Given the description of an element on the screen output the (x, y) to click on. 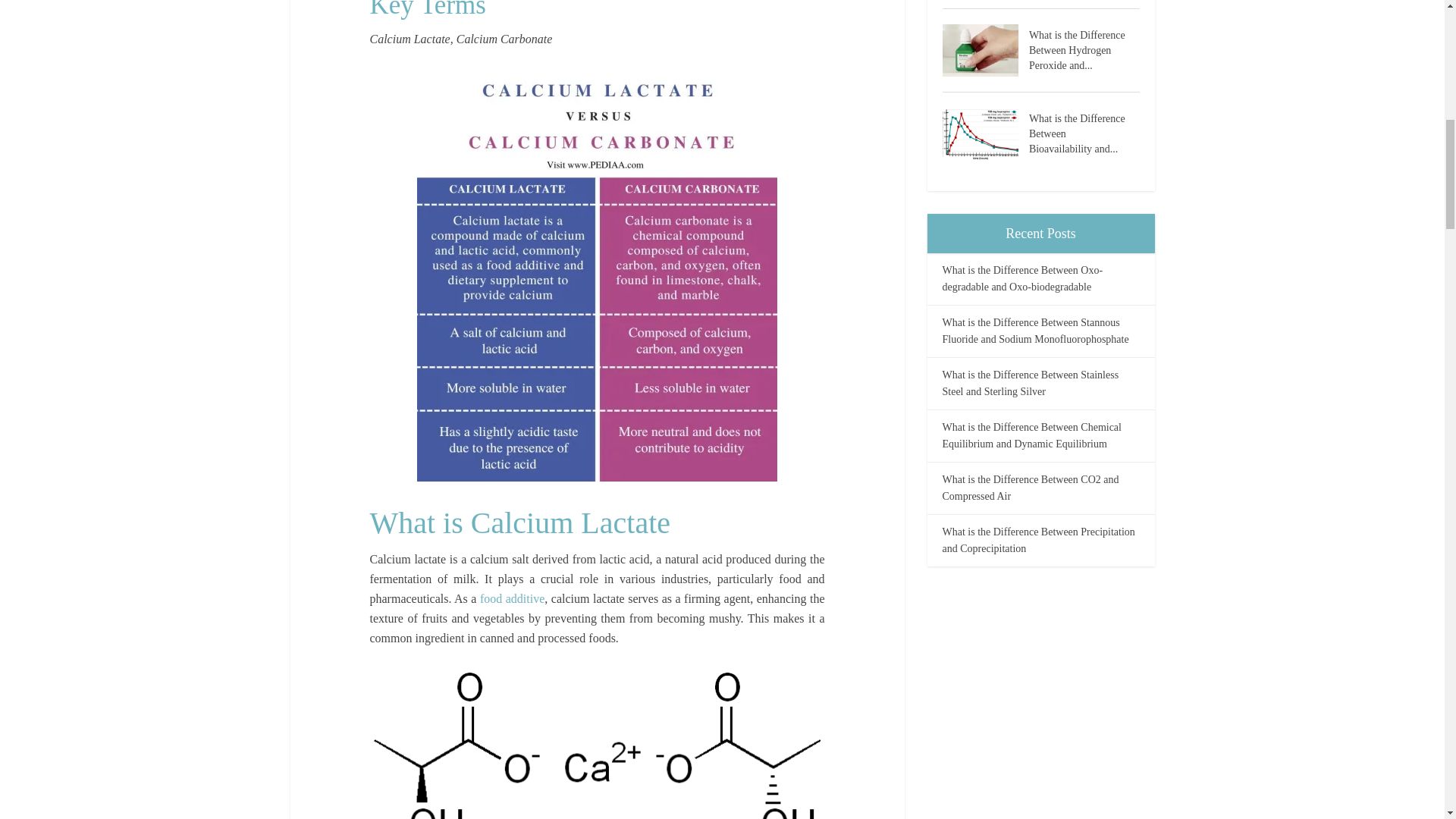
food additive (512, 598)
